Given the description of an element on the screen output the (x, y) to click on. 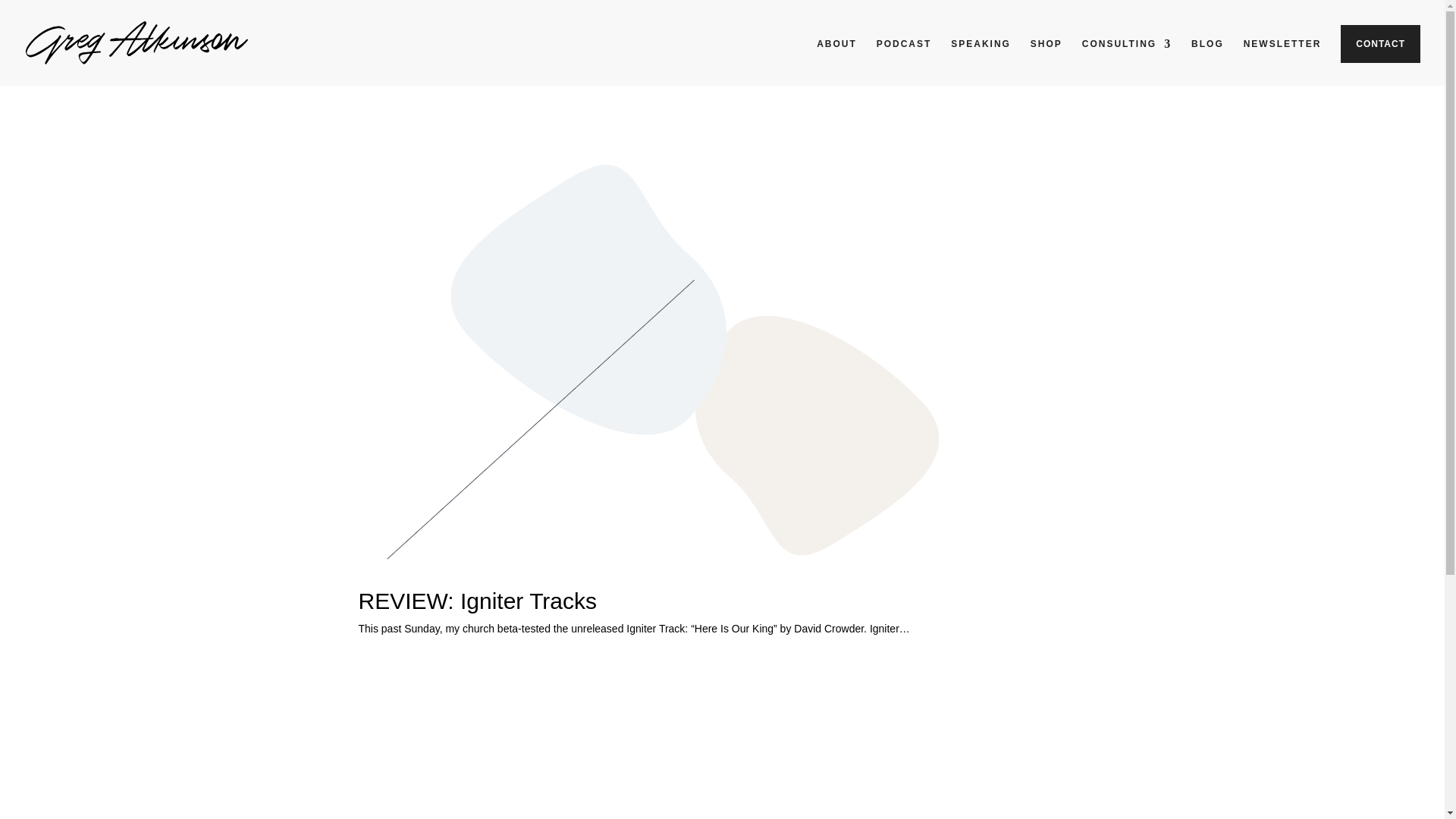
SPEAKING (980, 56)
PODCAST (903, 56)
NEWSLETTER (1282, 56)
ABOUT (836, 56)
SHOP (1046, 56)
BLOG (1207, 56)
CONSULTING (1126, 56)
CONTACT (1380, 44)
